Given the description of an element on the screen output the (x, y) to click on. 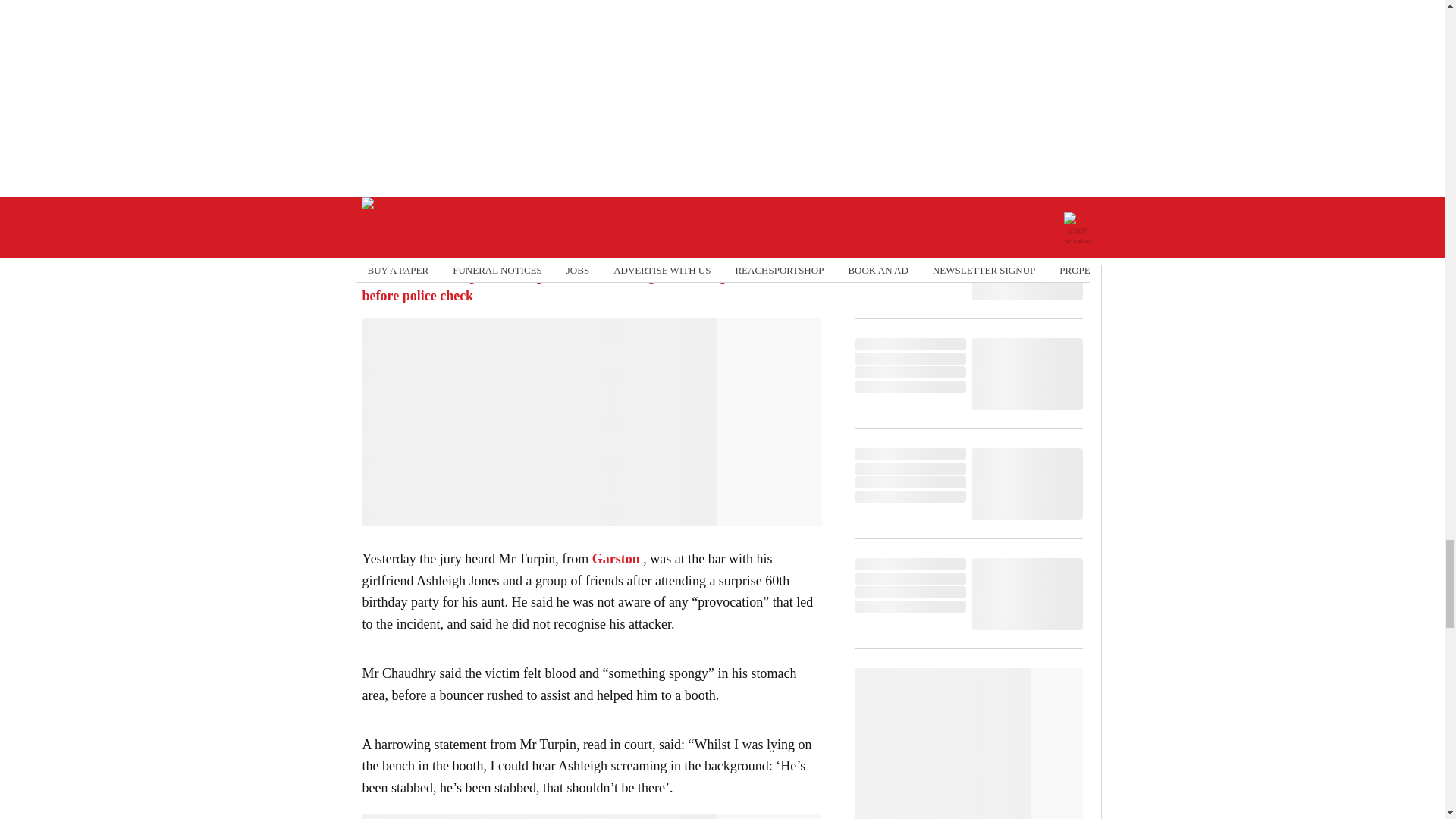
city centre (469, 242)
Garston (616, 558)
